Given the description of an element on the screen output the (x, y) to click on. 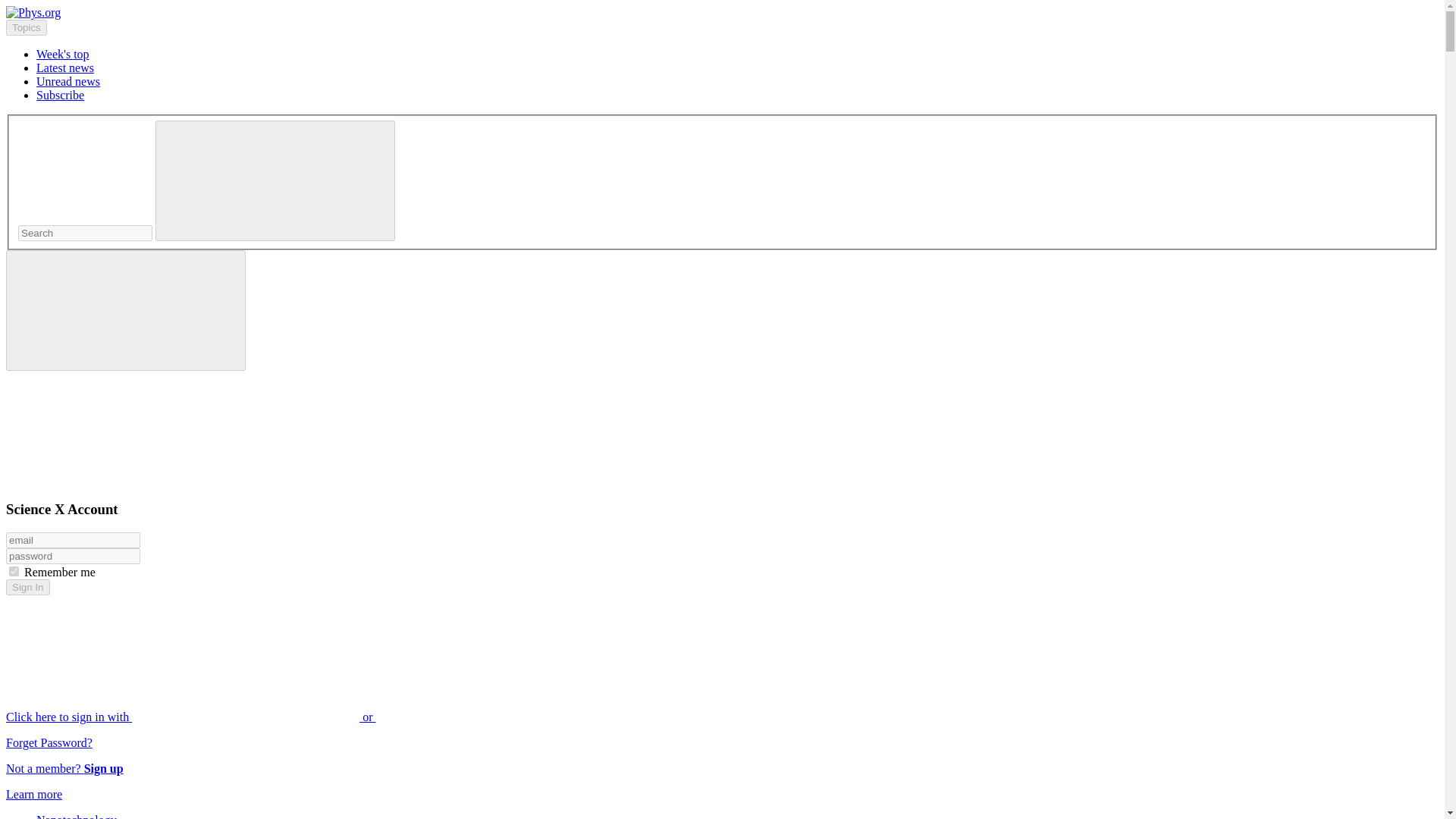
Learn more (33, 793)
Forget Password? (49, 742)
on (13, 571)
Subscribe (60, 94)
Not a member? Sign up (64, 768)
Latest news (65, 67)
Week's top (62, 53)
Sign In (27, 587)
Click here to sign in with or (304, 716)
Unread news (68, 81)
